Given the description of an element on the screen output the (x, y) to click on. 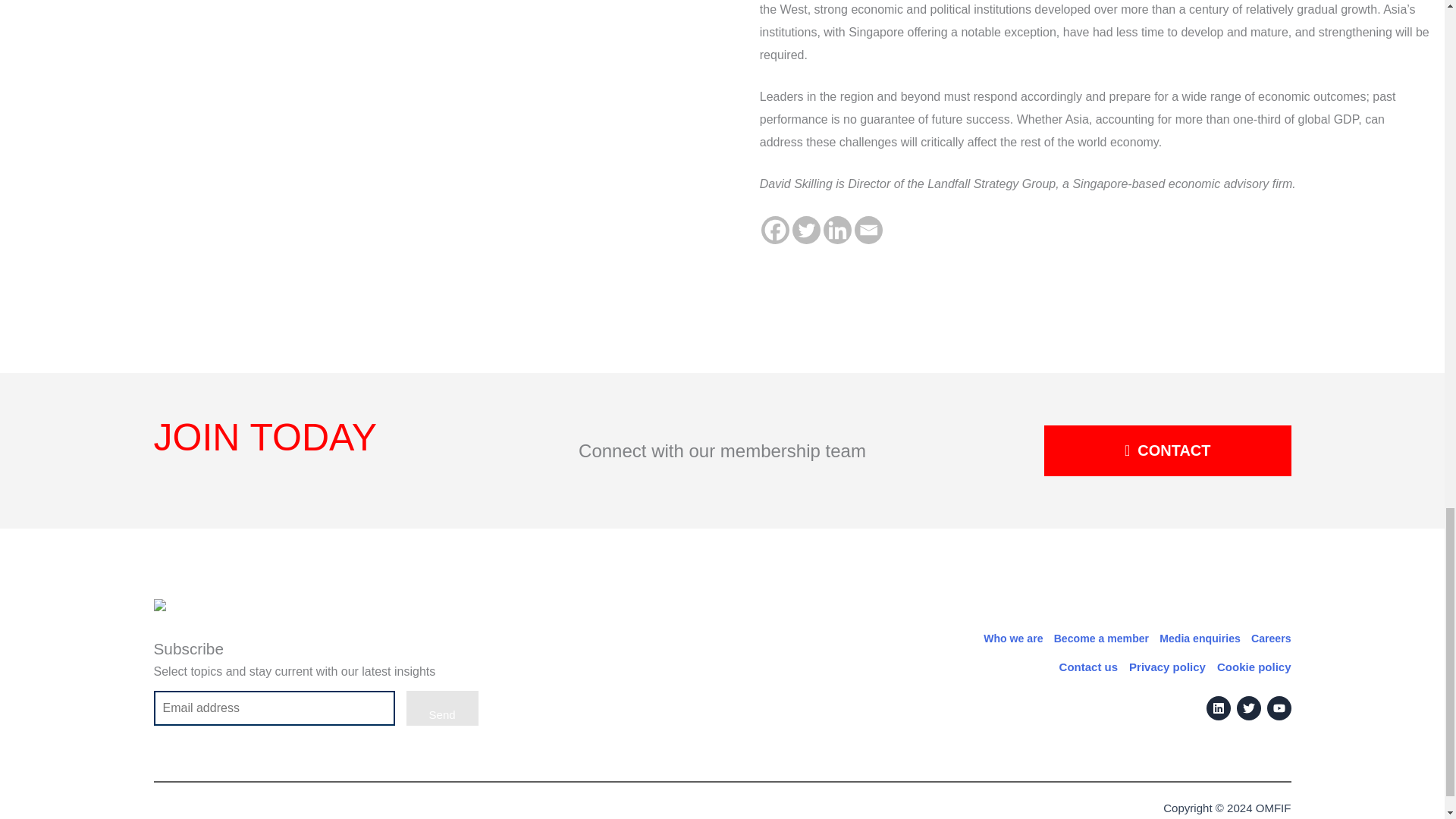
Send (442, 708)
Twitter (806, 230)
Email (868, 230)
Linkedin (837, 230)
Facebook (775, 230)
